Given the description of an element on the screen output the (x, y) to click on. 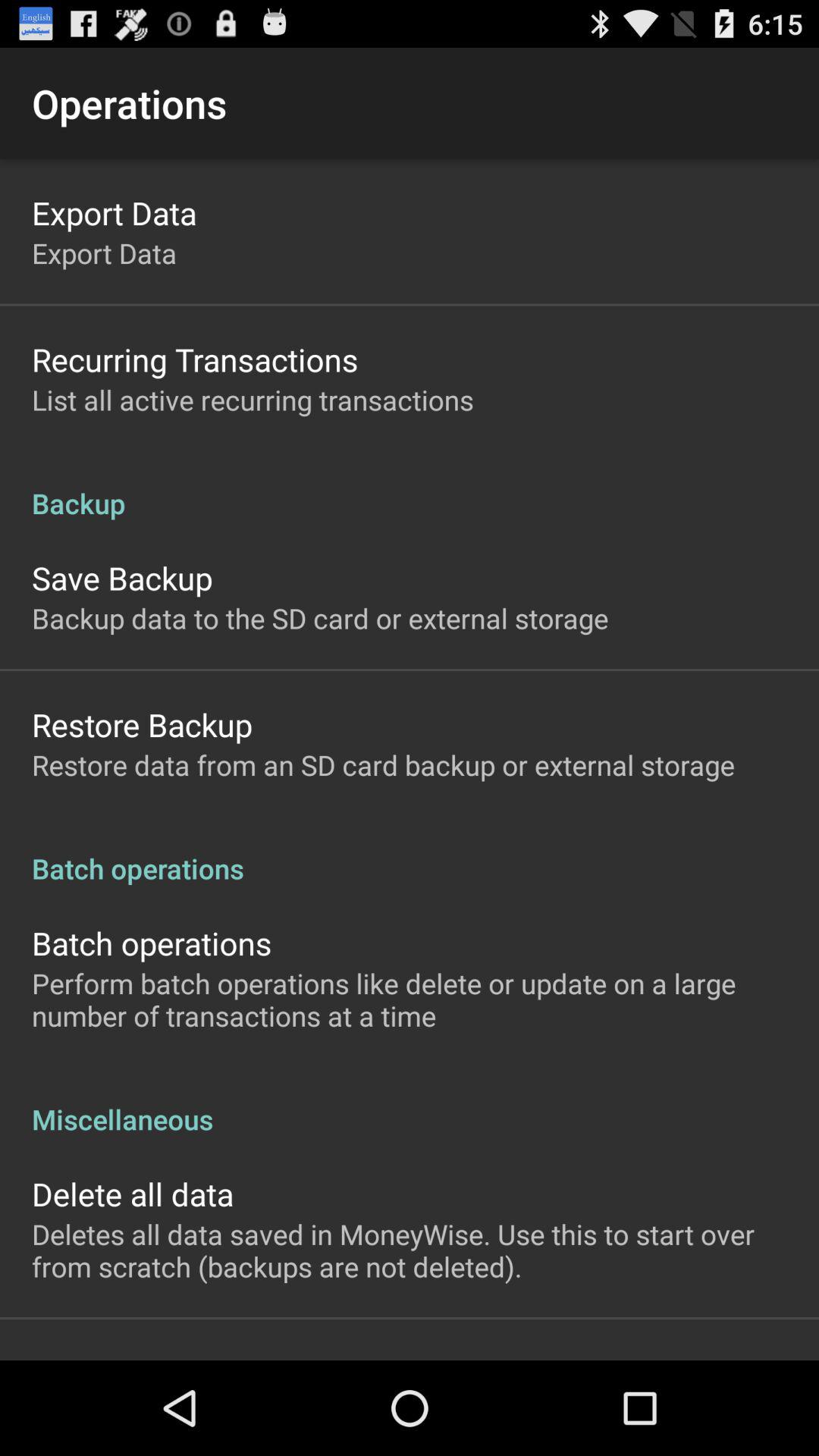
launch the icon above the backup icon (252, 399)
